Given the description of an element on the screen output the (x, y) to click on. 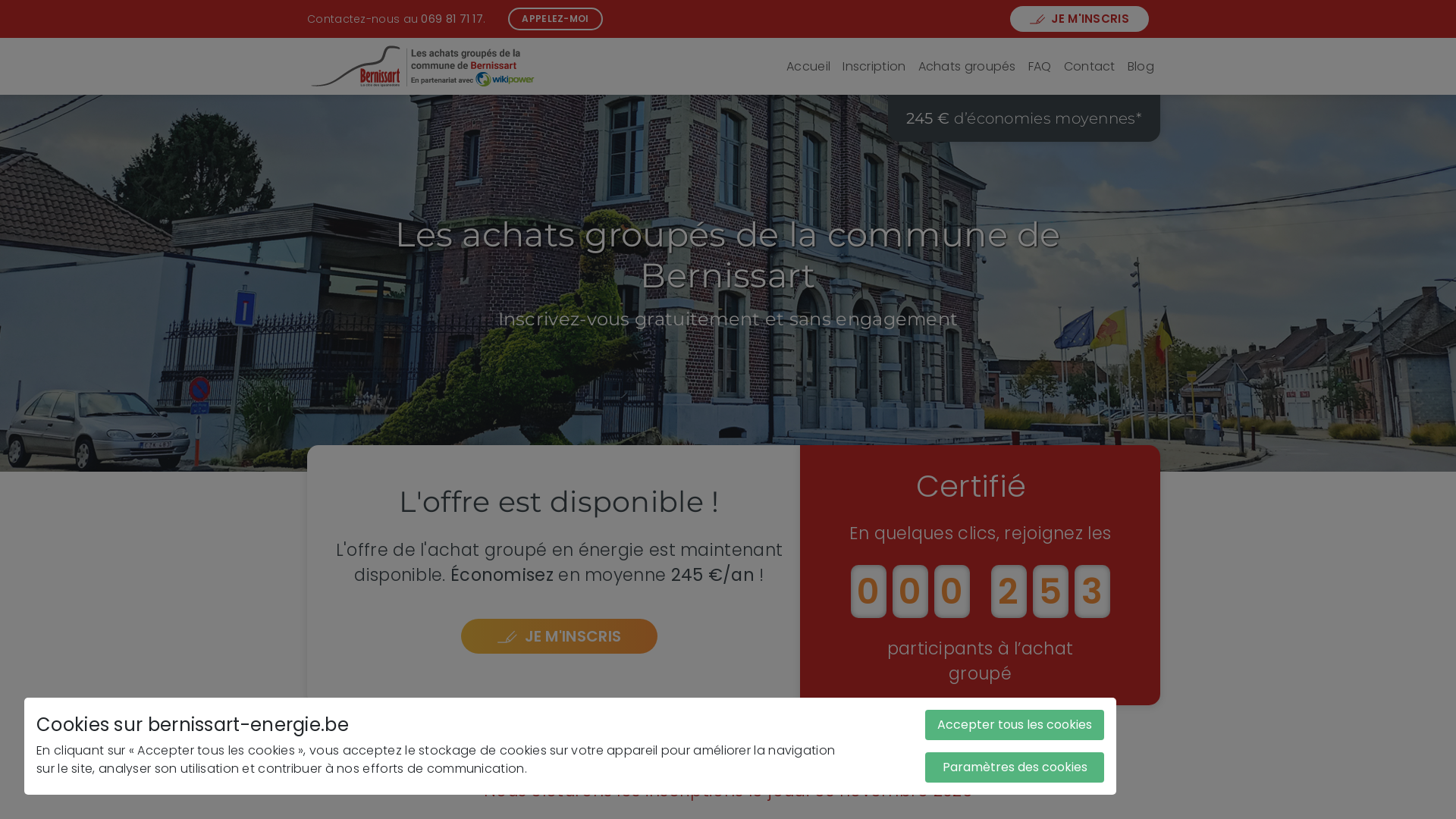
Inscription Element type: text (873, 66)
Accepter tous les cookies Element type: text (1014, 724)
FAQ Element type: text (1039, 66)
JE M'INSCRIS Element type: text (1079, 19)
Accueil Element type: text (808, 66)
069 81 71 17 Element type: text (451, 17)
Blog Element type: text (1140, 66)
APPELEZ-MOI Element type: text (555, 18)
JE M'INSCRIS Element type: text (559, 635)
Contact Element type: text (1089, 66)
